Given the description of an element on the screen output the (x, y) to click on. 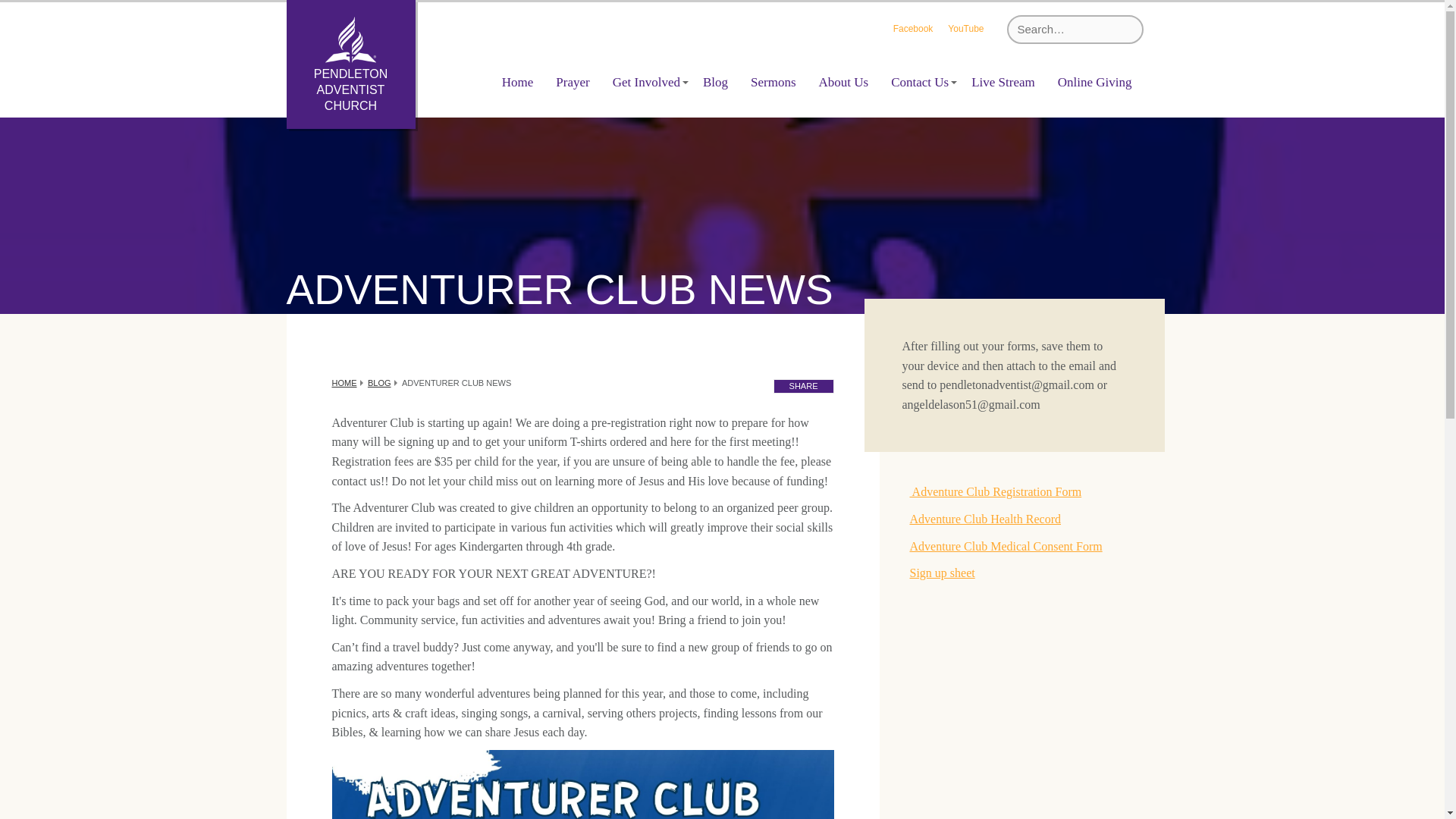
Adventure Club Medical Consent Form (1006, 545)
Adventure Club Health Record (985, 518)
Online Giving (1094, 82)
BLOG (379, 382)
SHARE (803, 386)
YouTube (965, 29)
HOME (343, 382)
Blog (715, 82)
 Adventure Club Registration Form (995, 491)
